Given the description of an element on the screen output the (x, y) to click on. 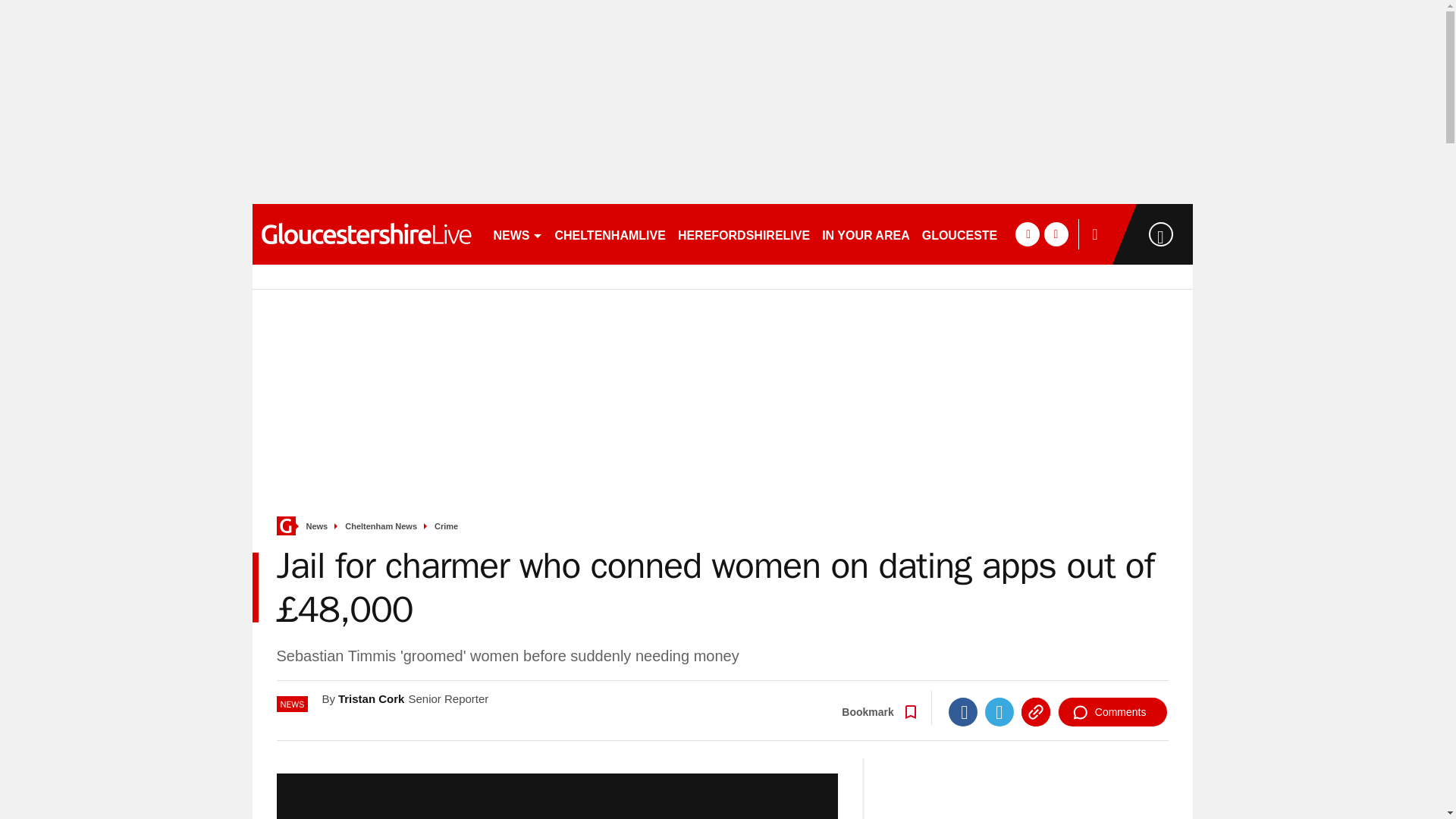
CHELTENHAMLIVE (609, 233)
NEWS (517, 233)
twitter (1055, 233)
IN YOUR AREA (865, 233)
GLOUCESTER NEWS (983, 233)
HEREFORDSHIRELIVE (743, 233)
facebook (1026, 233)
Facebook (962, 711)
gloucestershirelive (365, 233)
Comments (1112, 711)
Twitter (999, 711)
